Given the description of an element on the screen output the (x, y) to click on. 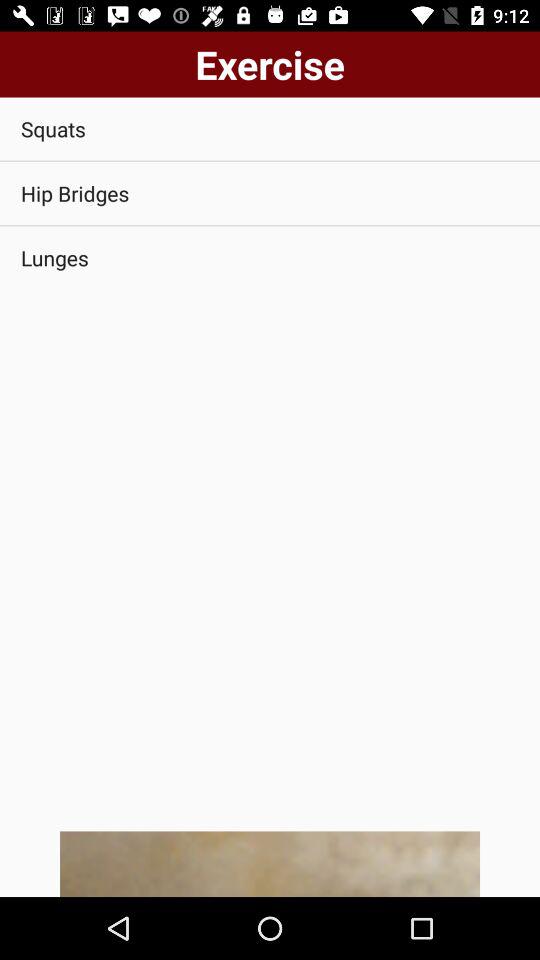
choose the item above lunges (270, 193)
